Given the description of an element on the screen output the (x, y) to click on. 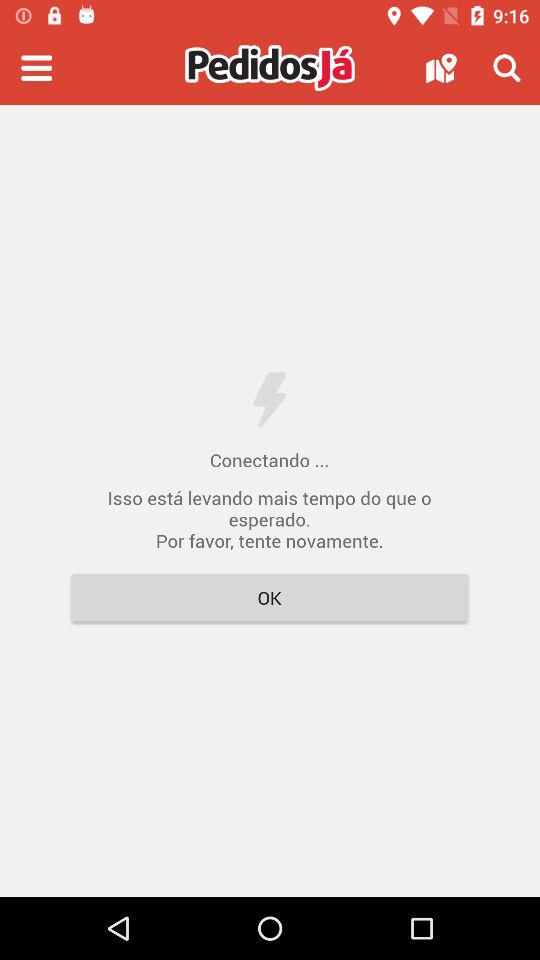
scroll to the ok item (269, 597)
